Given the description of an element on the screen output the (x, y) to click on. 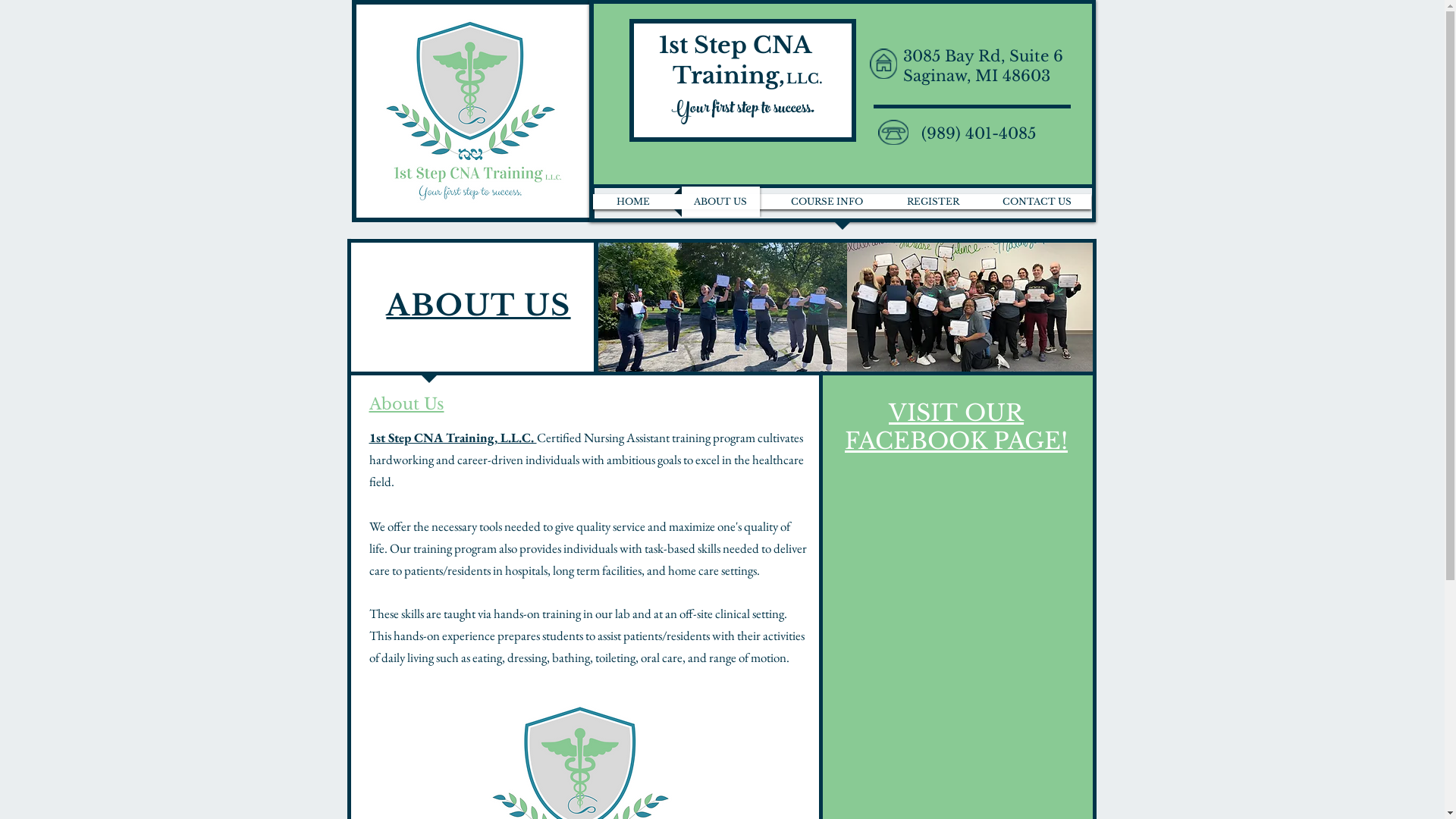
(989) 401-4085 Element type: text (978, 134)
   Training, Element type: text (718, 75)
ABOUT US Element type: text (719, 201)
REGISTER Element type: text (933, 201)
COURSE INFO Element type: text (826, 201)
LLC. Element type: text (803, 78)
1st Step CNA  Element type: text (737, 45)
CONTACT US Element type: text (1036, 201)
HOME Element type: text (632, 201)
  Element type: text (784, 81)
